Given the description of an element on the screen output the (x, y) to click on. 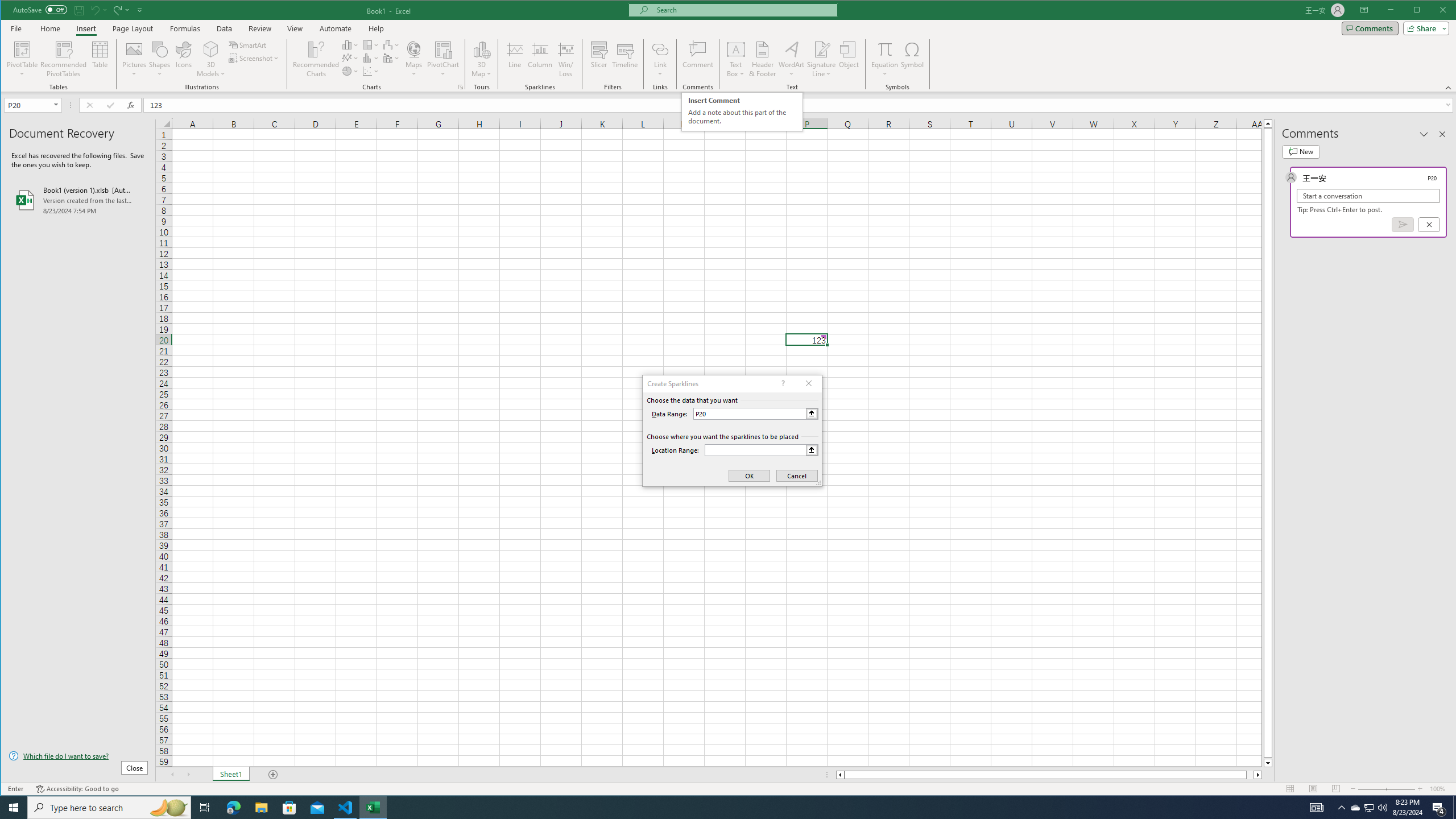
Insert Pie or Doughnut Chart (350, 70)
Link (659, 59)
